Given the description of an element on the screen output the (x, y) to click on. 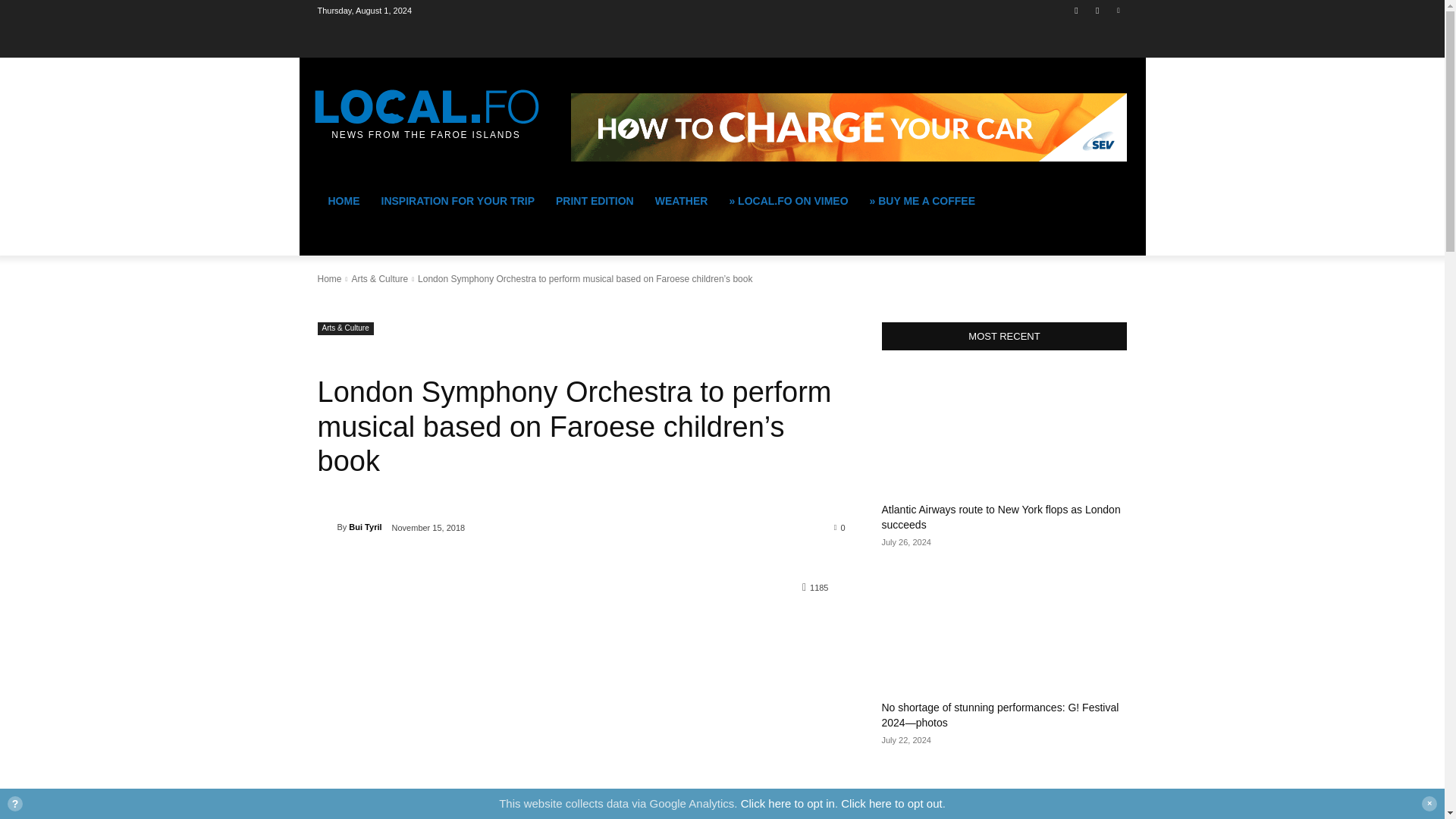
PRINT EDITION (594, 200)
Twitter (1097, 9)
Bui Tyril (365, 526)
HOME (343, 200)
Facebook (1075, 9)
INSPIRATION FOR YOUR TRIP (456, 200)
Bui Tyril (326, 526)
Home (328, 278)
Vimeo (1117, 9)
Local.fo logo (425, 108)
NEWS FROM THE FAROE ISLANDS (425, 108)
WEATHER (682, 200)
0 (839, 526)
